Given the description of an element on the screen output the (x, y) to click on. 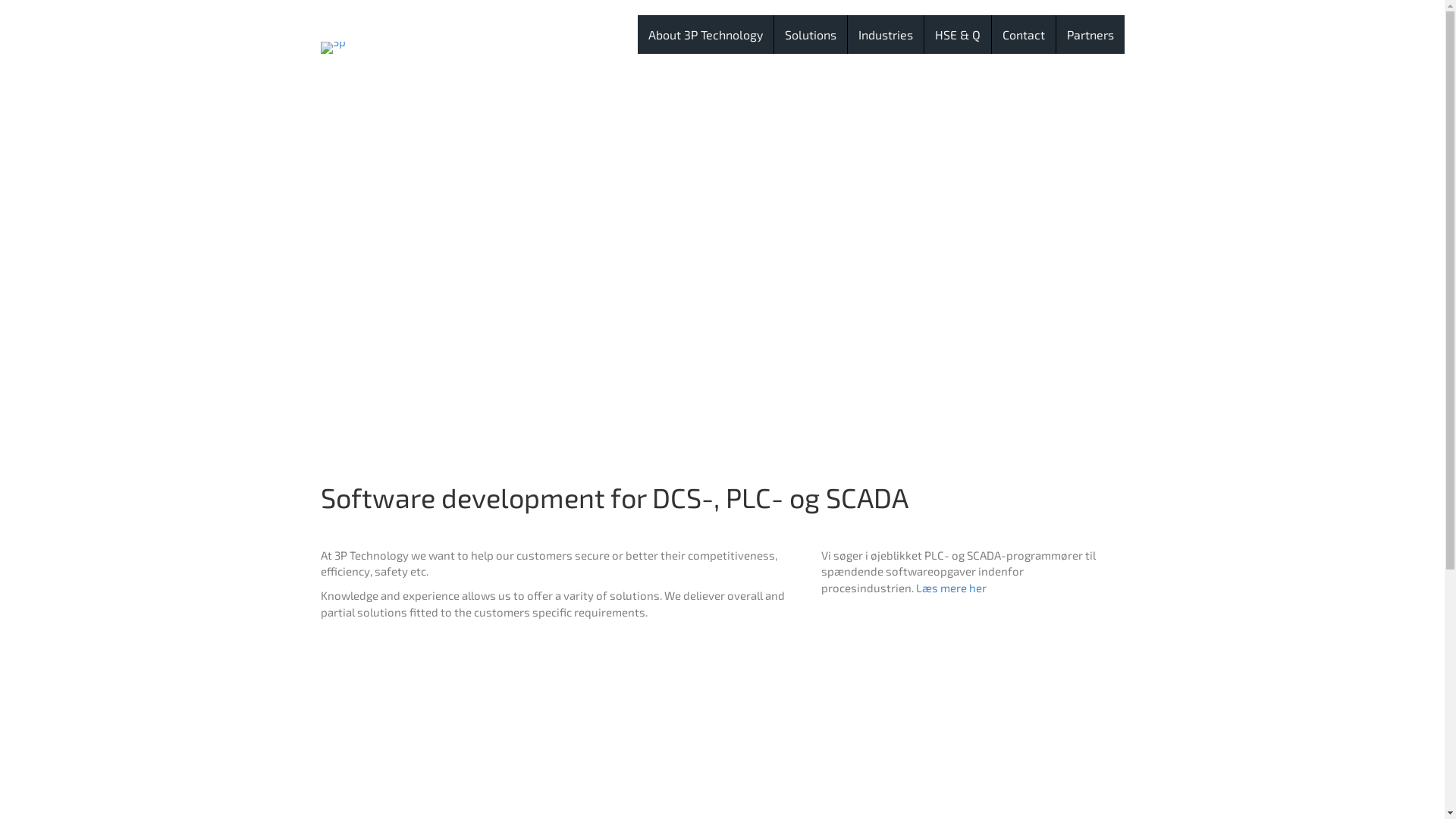
Solutions Element type: text (809, 34)
About 3P Technology Element type: text (704, 34)
Partners Element type: text (1089, 34)
HSE & Q Element type: text (956, 34)
Contact Element type: text (1023, 34)
3p Element type: hover (332, 47)
Industries Element type: text (885, 34)
